Given the description of an element on the screen output the (x, y) to click on. 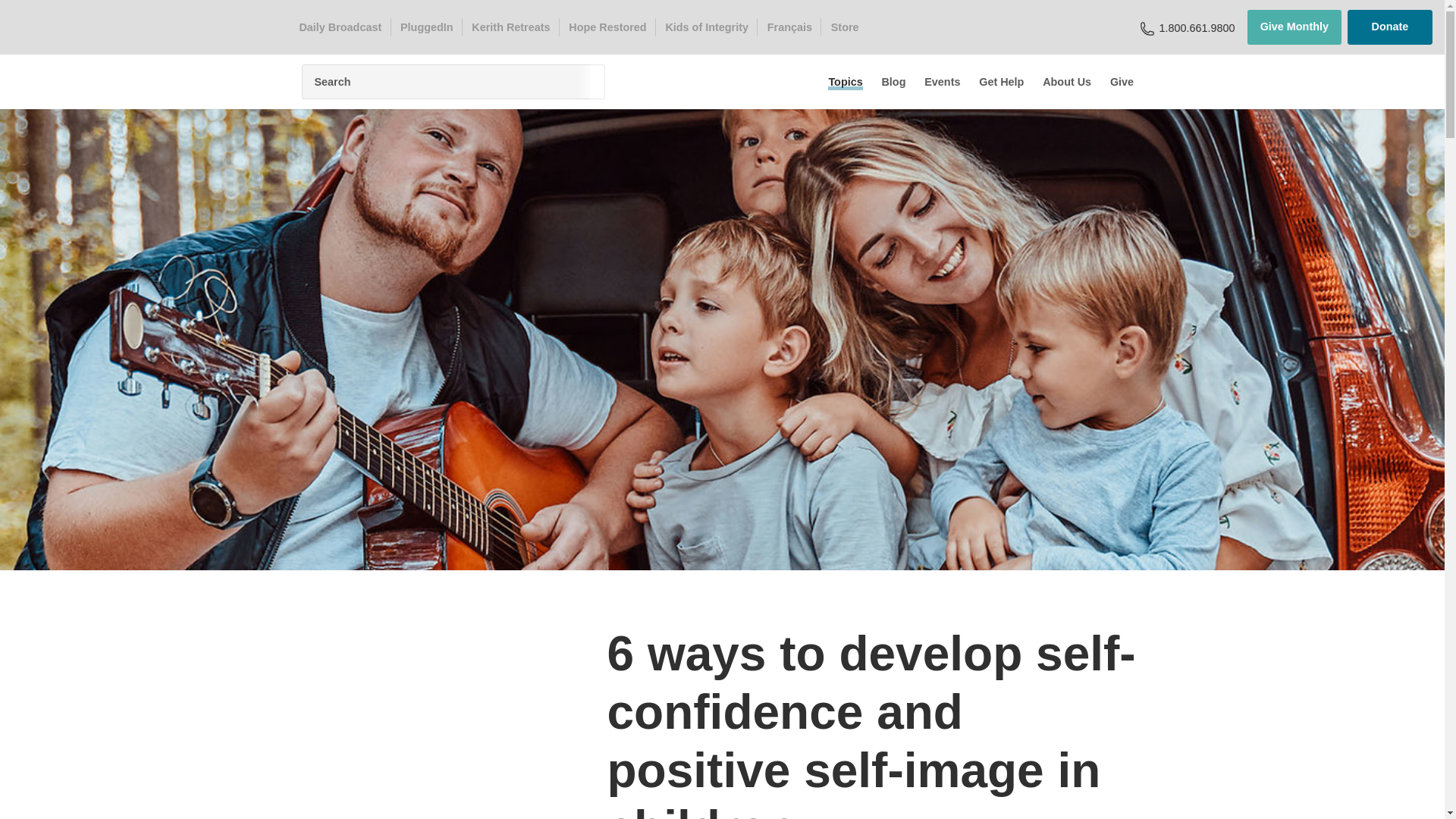
Get Help (1001, 81)
Daily Broadcast (340, 27)
Kids of Integrity (707, 27)
1.800.661.9800 (1196, 27)
Donate (1390, 27)
Hope Restored (608, 27)
Events (941, 81)
About Us (1066, 81)
Blog (893, 81)
PluggedIn (426, 27)
Give Monthly (1293, 27)
Topics (845, 81)
Store (844, 27)
Kerith Retreats (511, 27)
Give (1121, 81)
